Given the description of an element on the screen output the (x, y) to click on. 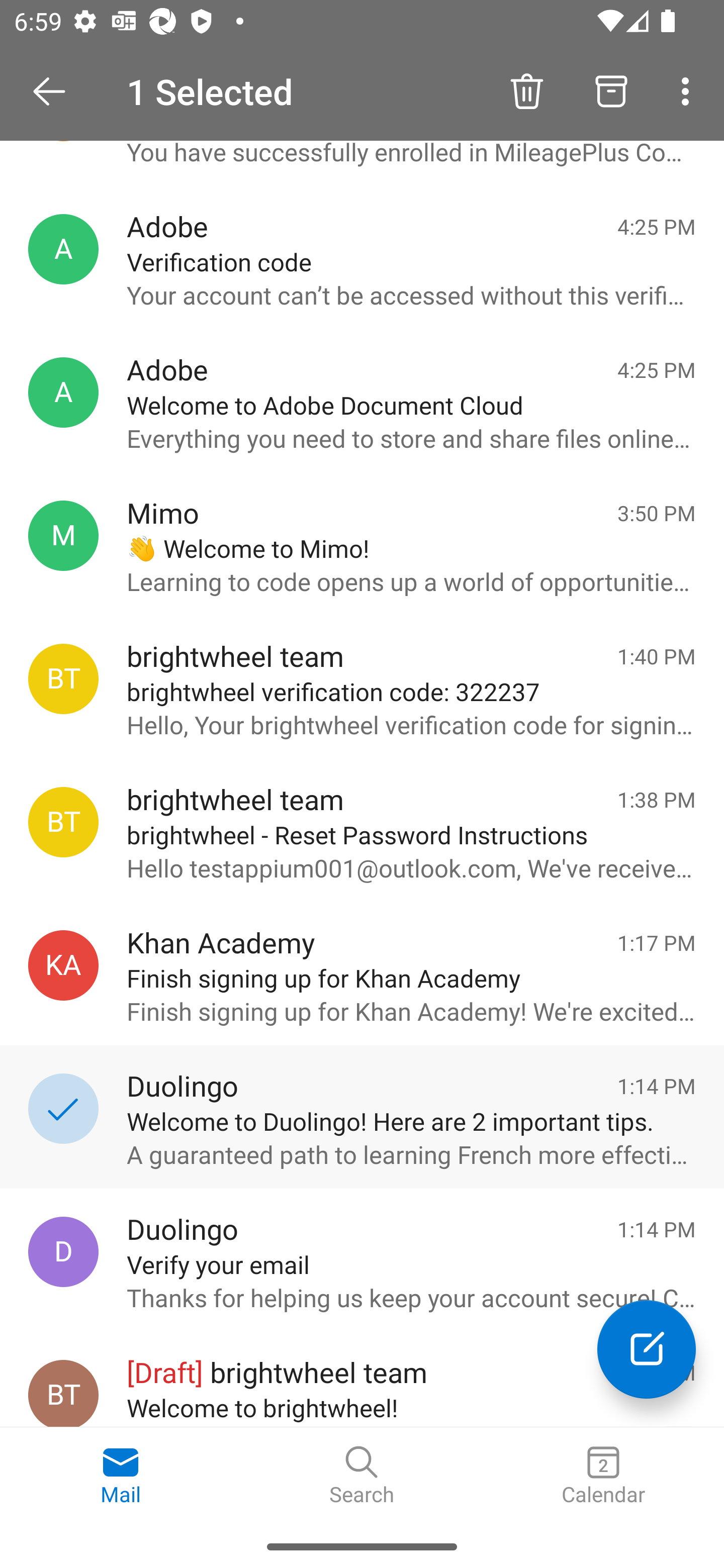
Delete (526, 90)
Archive (611, 90)
More options (688, 90)
Open Navigation Drawer (55, 91)
Adobe, message@adobe.com (63, 248)
Adobe, message@adobe.com (63, 392)
Mimo, support@getmimo.com (63, 535)
brightwheel team, recovery@mybrightwheel.com (63, 678)
brightwheel team, recovery@mybrightwheel.com (63, 822)
Khan Academy, no-reply@khanacademy.org (63, 964)
Duolingo, hello@duolingo.com (63, 1251)
Compose (646, 1348)
brightwheel team, welcome@mybrightwheel.com (63, 1392)
Search (361, 1475)
Calendar (603, 1475)
